Given the description of an element on the screen output the (x, y) to click on. 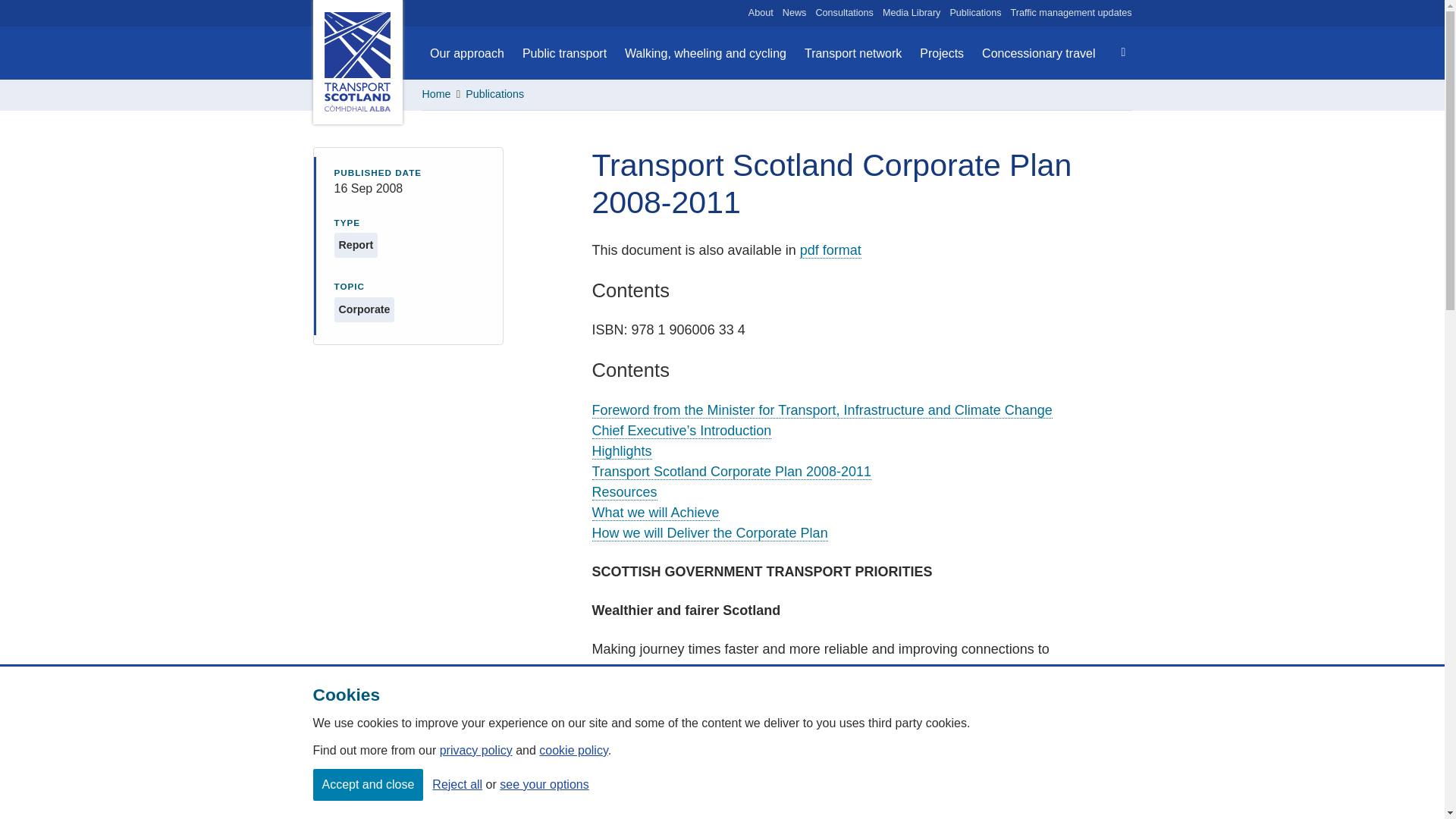
How we will Deliver the Corporate Plan (710, 533)
see your options (543, 784)
Walking, wheeling and cycling (705, 53)
Public transport (564, 53)
Publications (975, 12)
About (760, 12)
Reject all (456, 784)
Consultations (844, 12)
cookie policy (572, 749)
